Given the description of an element on the screen output the (x, y) to click on. 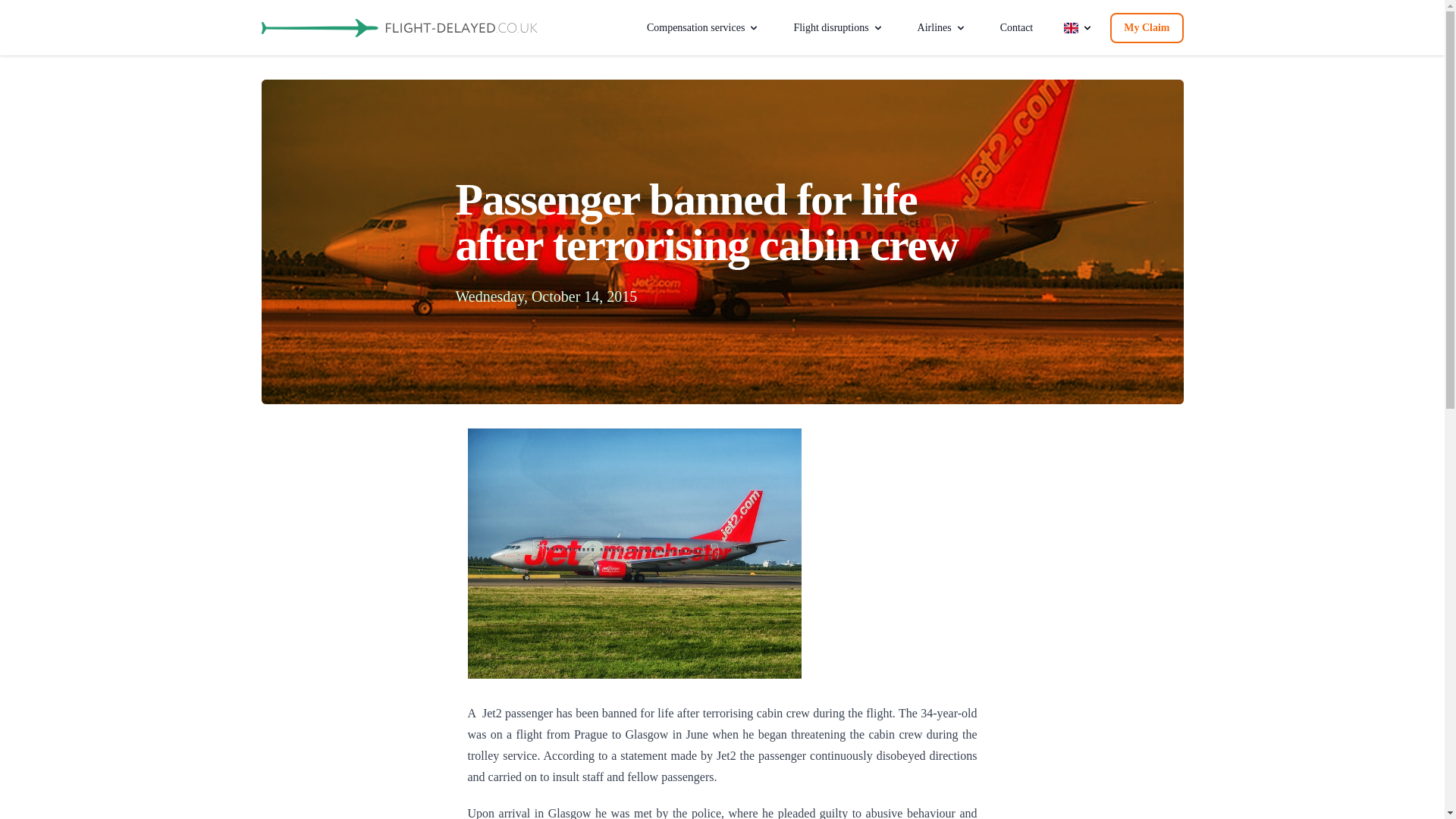
Airlines (941, 28)
My Claim (1145, 28)
Contact (1016, 28)
Flight disruptions (837, 28)
Compensation services (703, 28)
